Given the description of an element on the screen output the (x, y) to click on. 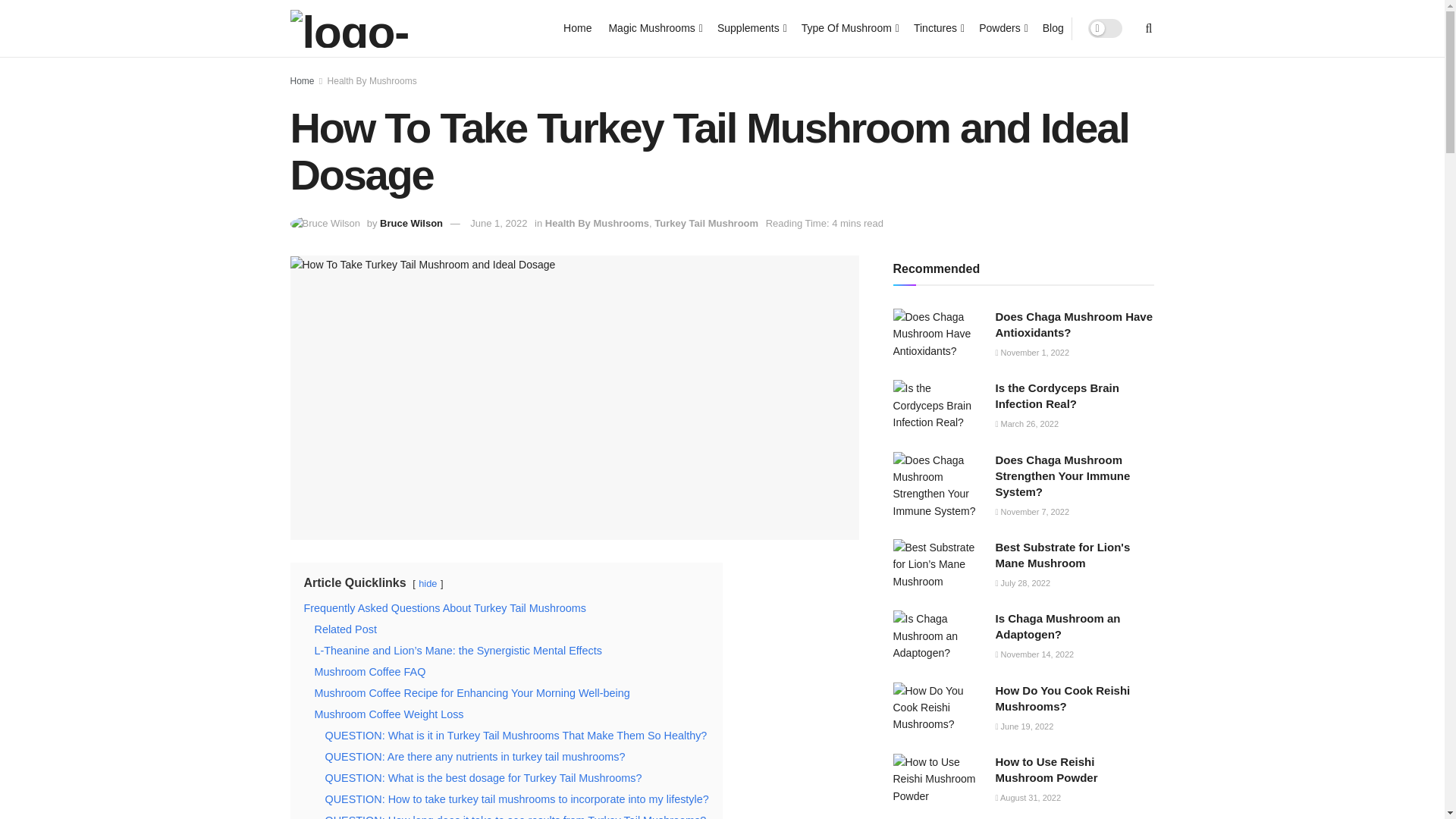
Supplements (750, 27)
Home (577, 27)
Type Of Mushroom (849, 27)
Magic Mushrooms (654, 27)
